Given the description of an element on the screen output the (x, y) to click on. 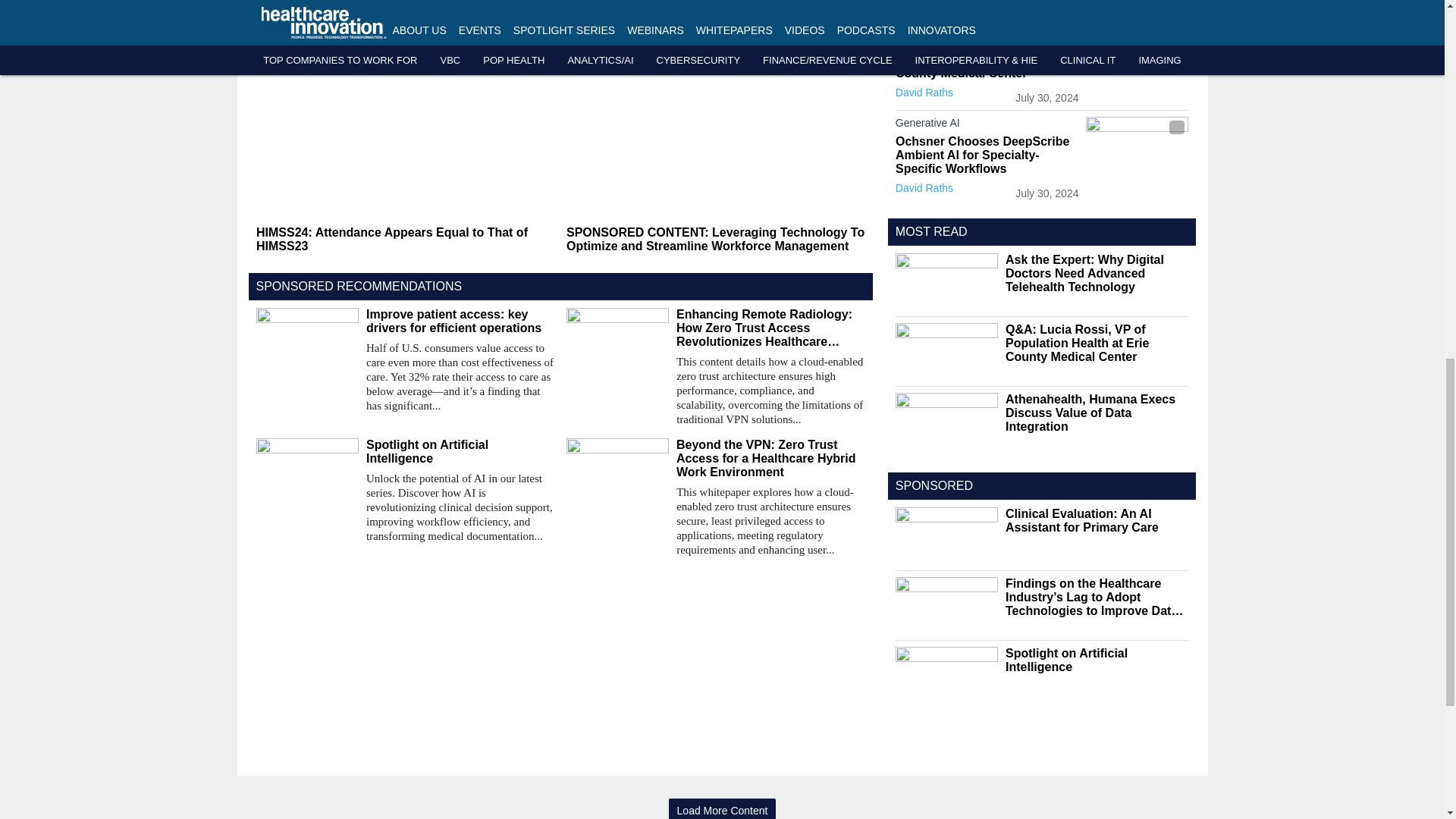
Improve patient access: key drivers for efficient operations (459, 320)
Spotlight on Artificial Intelligence (459, 452)
HIMSS24: Attendance Appears Equal to That of HIMSS23 (405, 239)
